Given the description of an element on the screen output the (x, y) to click on. 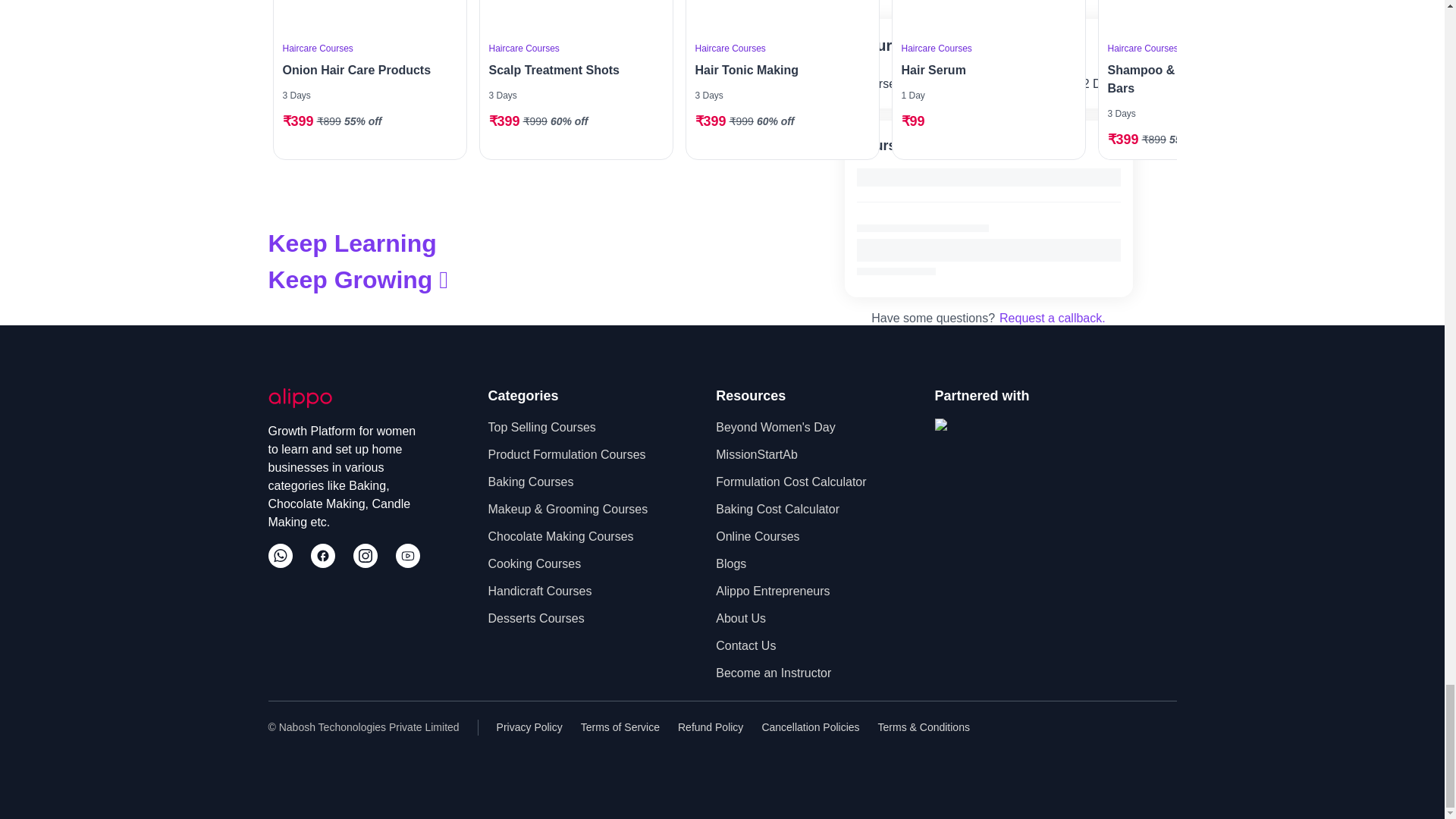
Onion Hair Care Products (365, 70)
Onion Hair Care Products (365, 70)
Hair Serum (984, 70)
Scalp Treatment Shots (575, 16)
Scalp Treatment Shots (570, 70)
Hair Tonic Making (777, 70)
Onion Hair Care Products (369, 16)
